Given the description of an element on the screen output the (x, y) to click on. 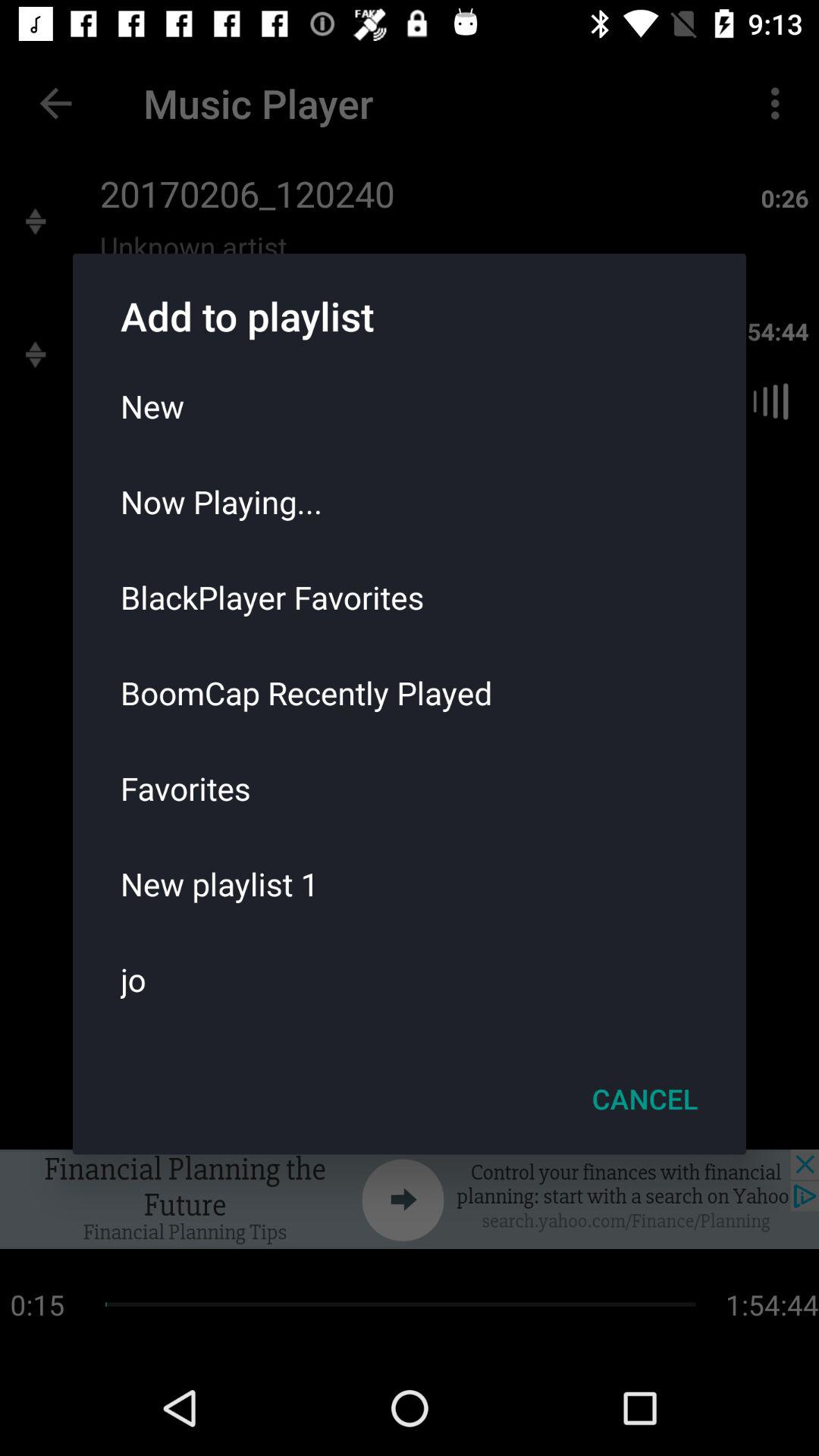
swipe to the blackplayer favorites icon (409, 596)
